Given the description of an element on the screen output the (x, y) to click on. 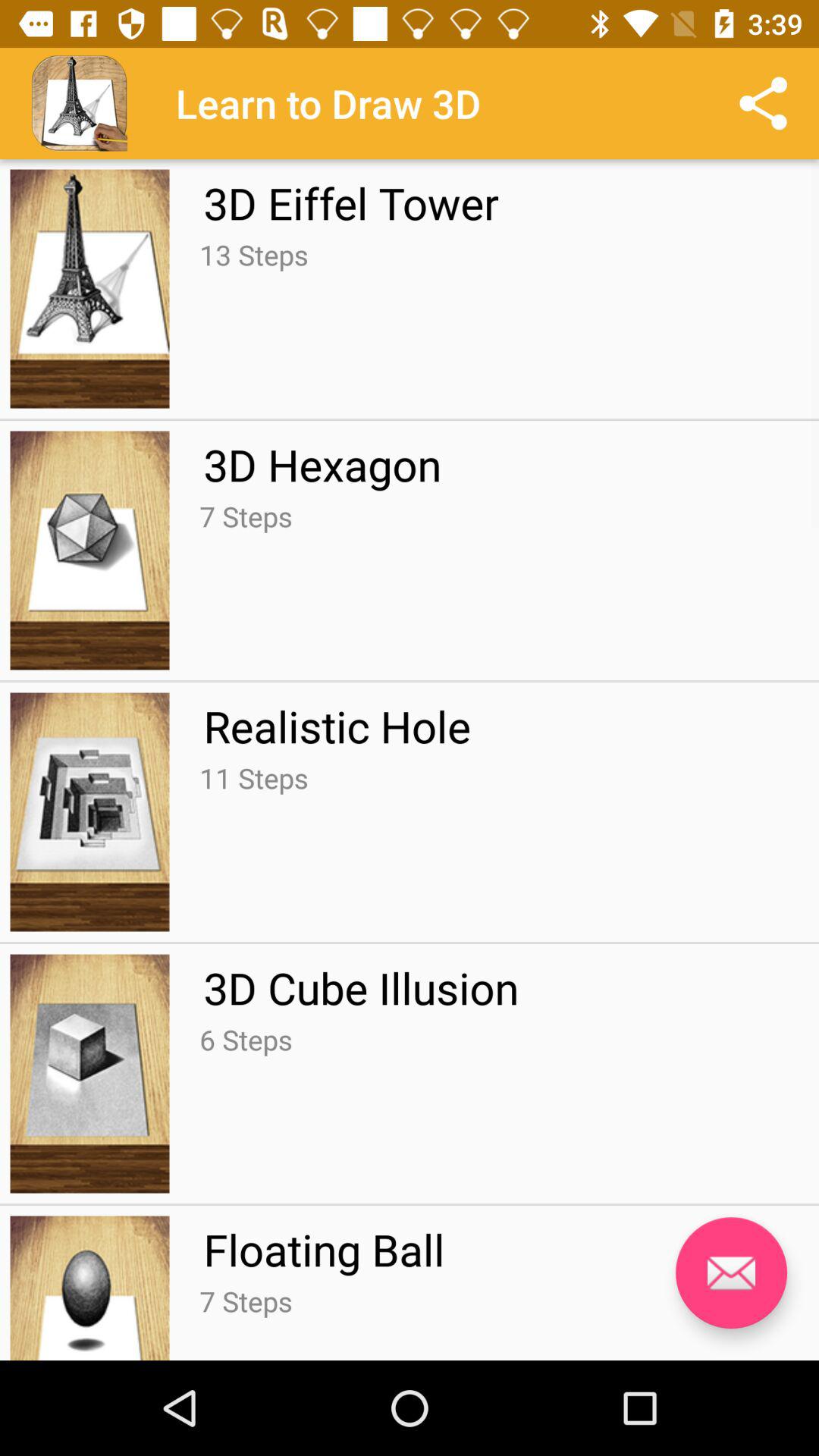
choose the 3d hexagon app (322, 464)
